Given the description of an element on the screen output the (x, y) to click on. 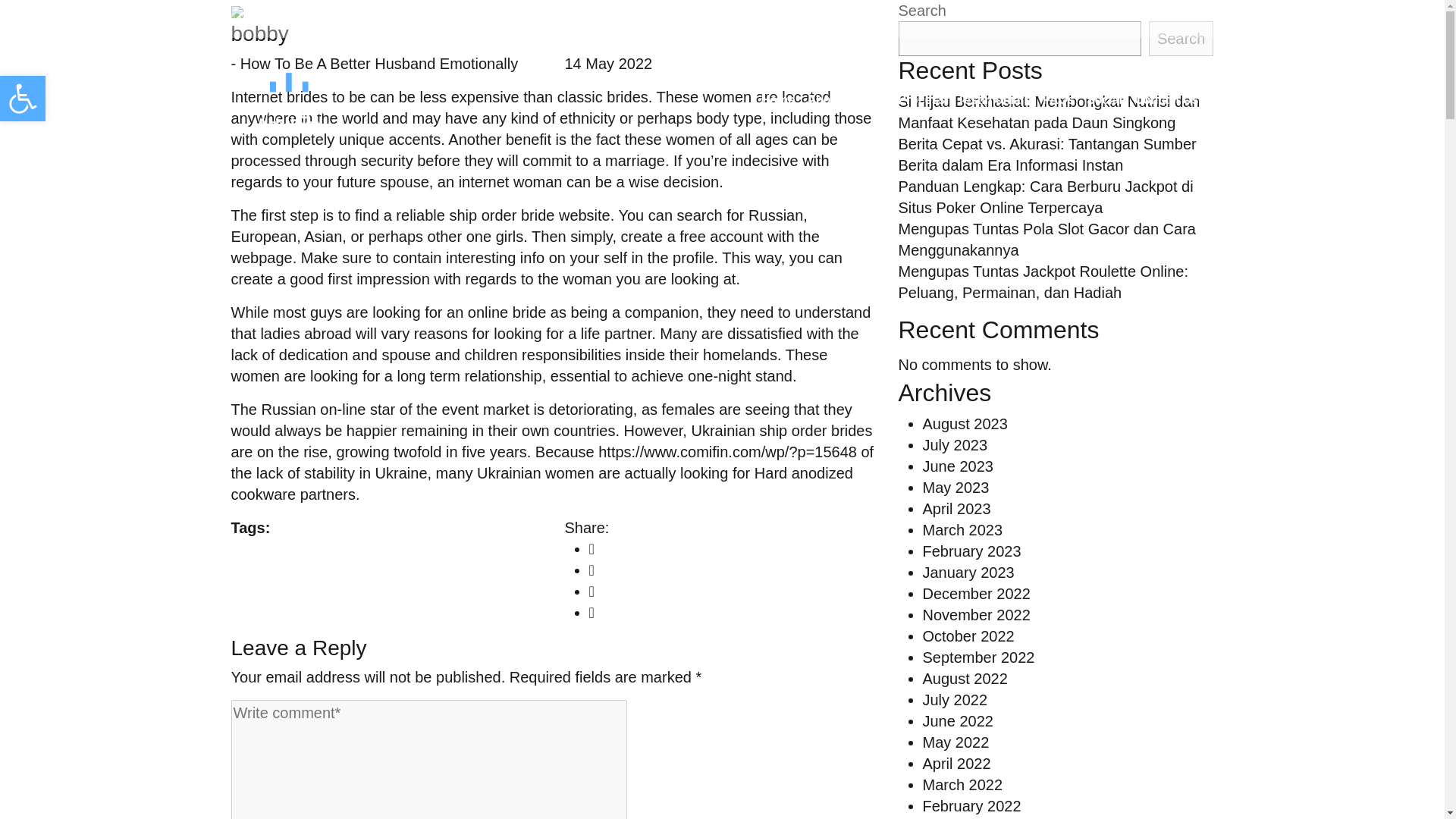
Search (1180, 38)
Testimonials (993, 100)
August 2023 (964, 423)
Social (1104, 100)
Our Process (908, 100)
July 2023 (954, 444)
Accessibility Tools (22, 98)
Home (777, 100)
About Us (833, 100)
FAQs (1058, 100)
Mengupas Tuntas Pola Slot Gacor dan Cara Menggunakannya (1046, 239)
918-623-6411 (276, 17)
Open toolbar (22, 98)
